Given the description of an element on the screen output the (x, y) to click on. 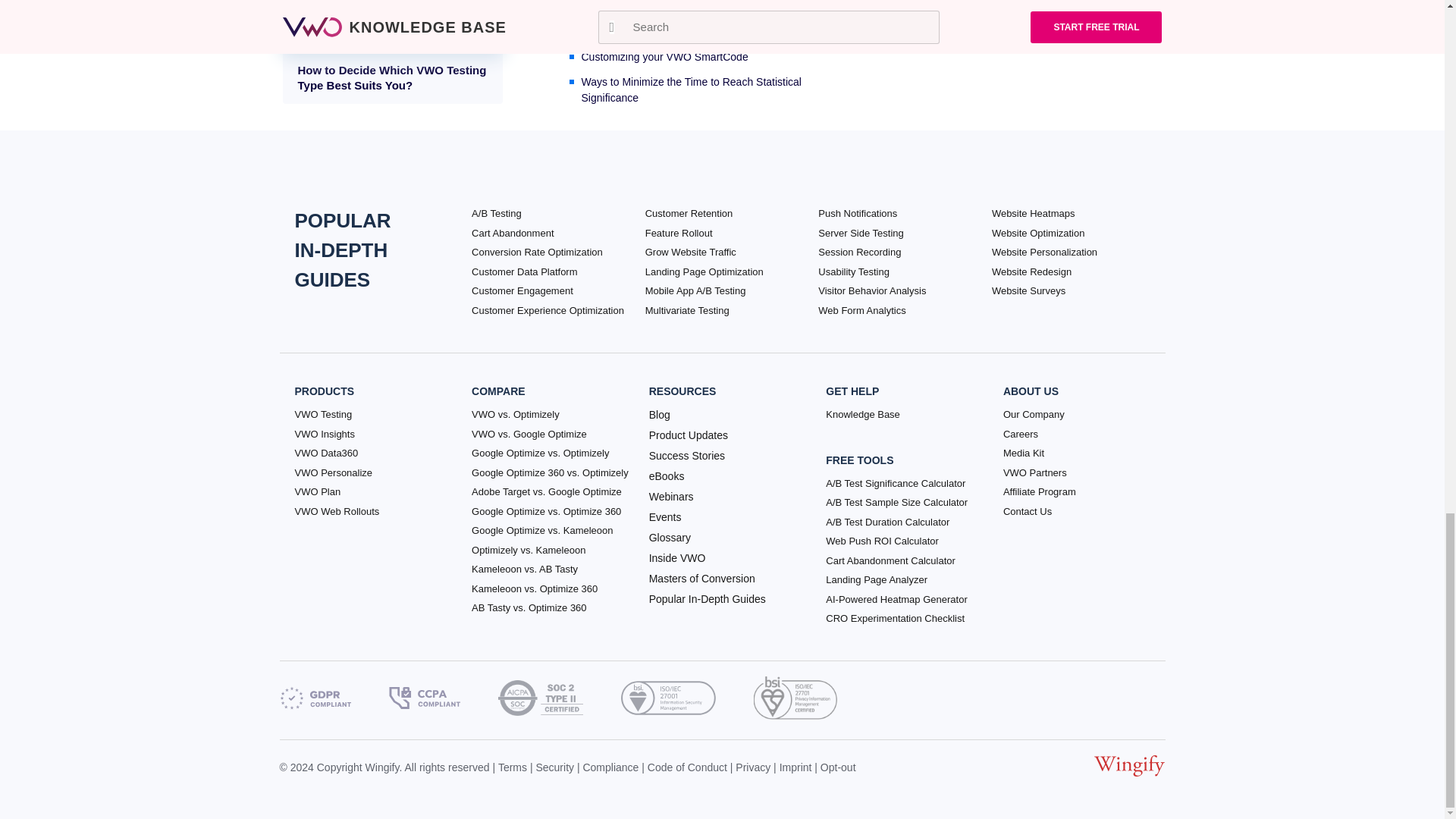
Feature Rollout (679, 233)
Grow Website Traffic (690, 252)
Cart Abandonment (512, 233)
Conversion Rate Optimization (536, 252)
Types of Testing in VWO (711, 32)
Customer Data Platform (523, 272)
Customizing your VWO SmartCode (711, 57)
Ways to Minimize the Time to Reach Statistical Significance (711, 90)
Customer Engagement (522, 290)
Customer Experience Optimization (547, 310)
Customer Retention (689, 213)
